Given the description of an element on the screen output the (x, y) to click on. 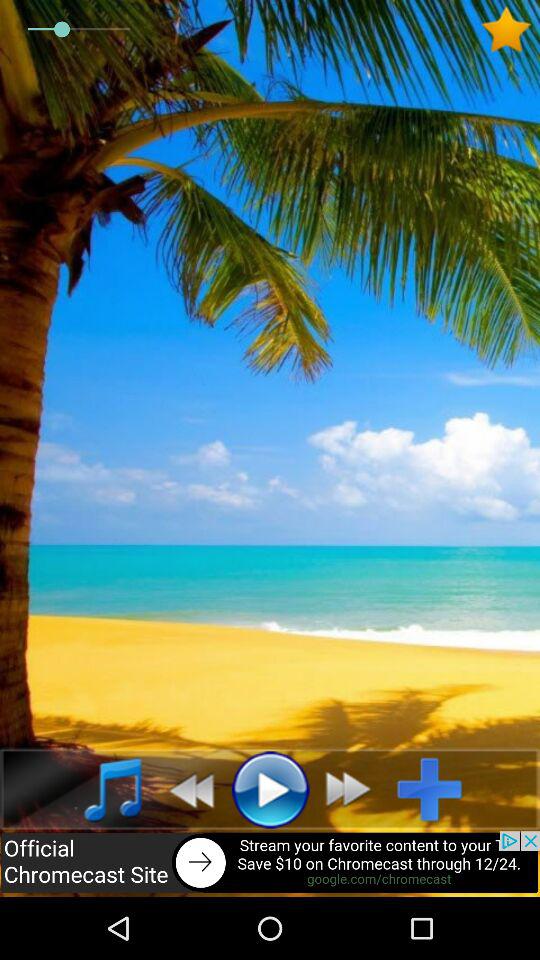
go back on track (186, 789)
